Given the description of an element on the screen output the (x, y) to click on. 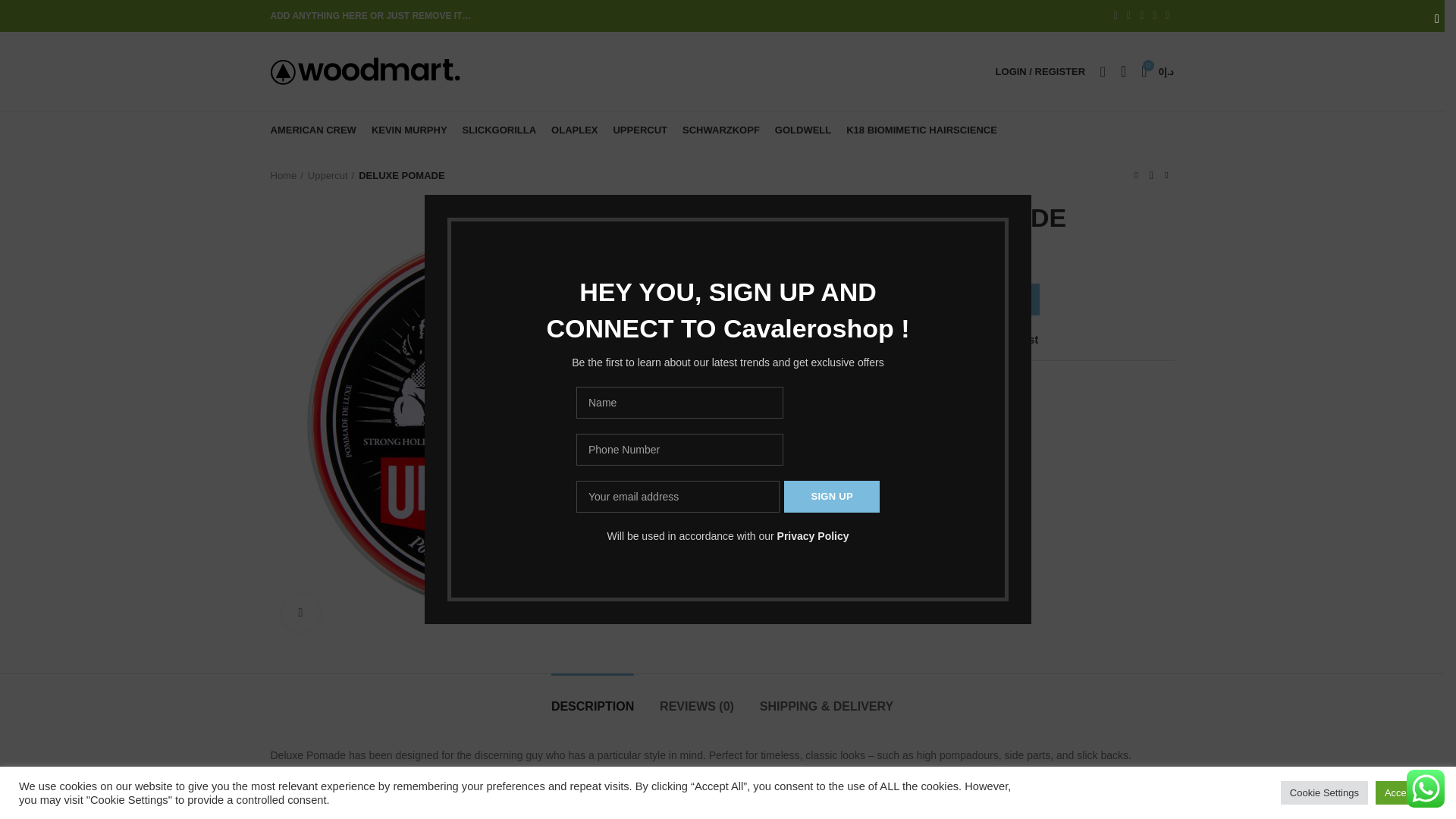
AMERICAN CREW (312, 130)
Sign up (831, 496)
UPPERCUT (640, 130)
Shopping cart (1157, 71)
Sign up (831, 496)
1 (898, 299)
KEVIN MURPHY (409, 130)
Next product (1165, 175)
- (876, 299)
Privacy Policy (812, 535)
Search (1103, 71)
GOLDWELL (802, 130)
Home (285, 175)
